Given the description of an element on the screen output the (x, y) to click on. 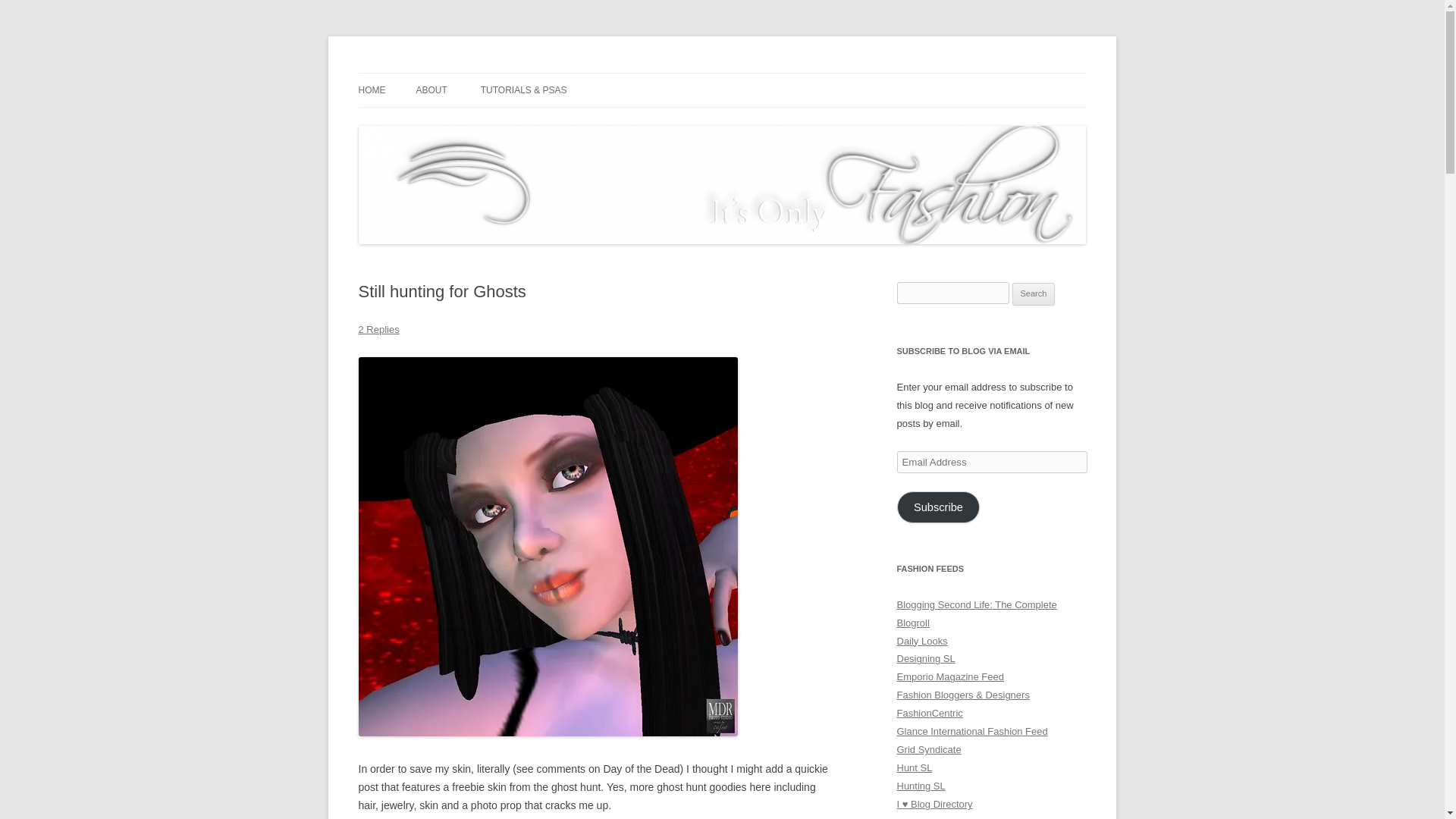
Blogging Second Life: The Complete Blogroll (976, 613)
ABOUT (430, 90)
Search (1033, 293)
Search (1033, 293)
Its Only Fashion (434, 72)
2 Replies (378, 328)
Subscribe (937, 507)
